Given the description of an element on the screen output the (x, y) to click on. 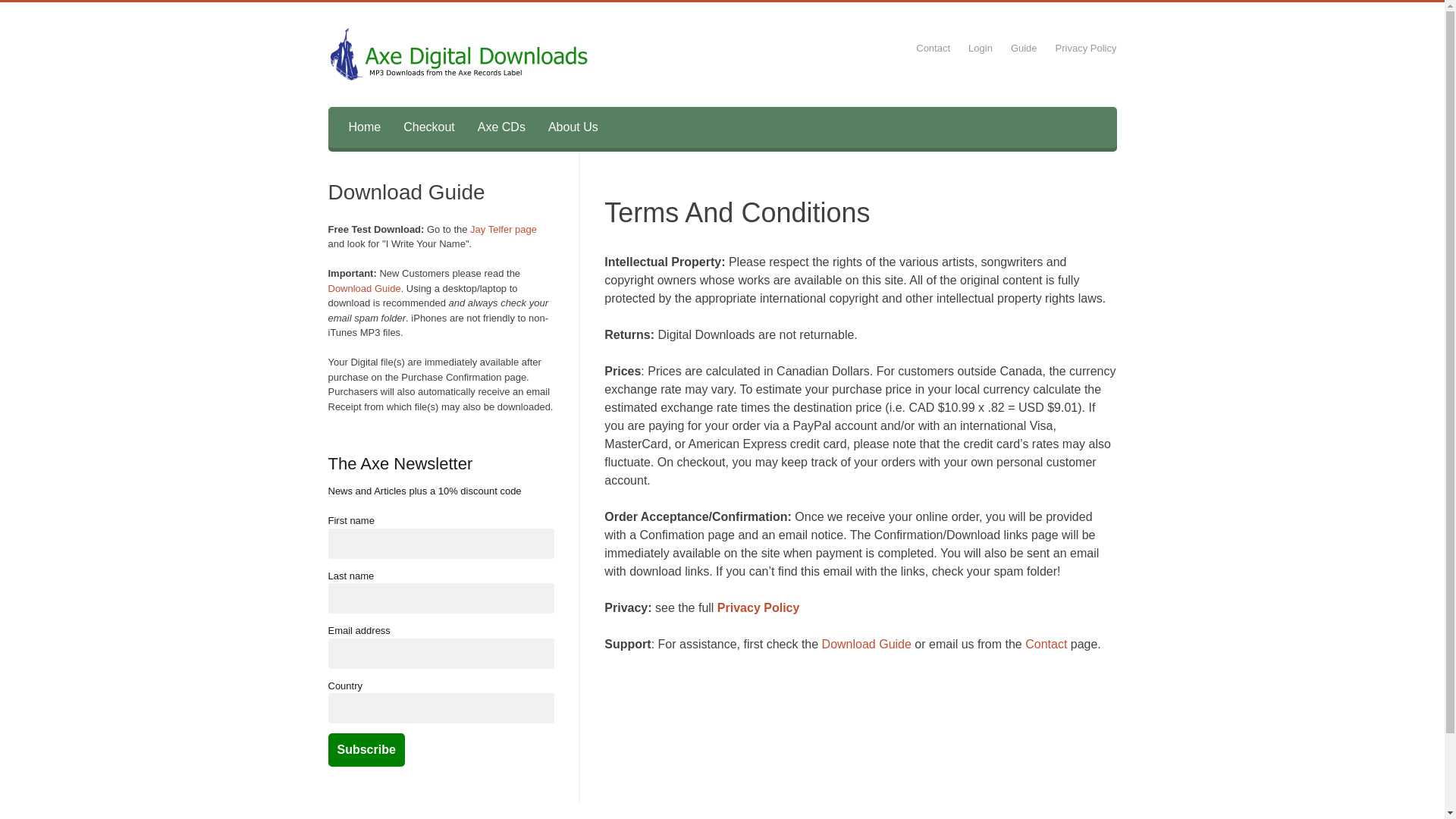
Privacy Policy Element type: text (758, 607)
Home Element type: text (364, 126)
Contact Element type: text (933, 47)
Skip to content Element type: text (336, 106)
Contact Element type: text (1045, 643)
Axe CDs Element type: text (501, 126)
Jay Telfer page Element type: text (503, 229)
Subscribe Element type: text (365, 749)
Guide Element type: text (1023, 47)
Download Guide Element type: text (866, 643)
About Us Element type: text (572, 126)
Login Element type: text (980, 47)
Privacy Policy Element type: text (1086, 47)
Download Guide Element type: text (363, 288)
Checkout Element type: text (429, 126)
